Given the description of an element on the screen output the (x, y) to click on. 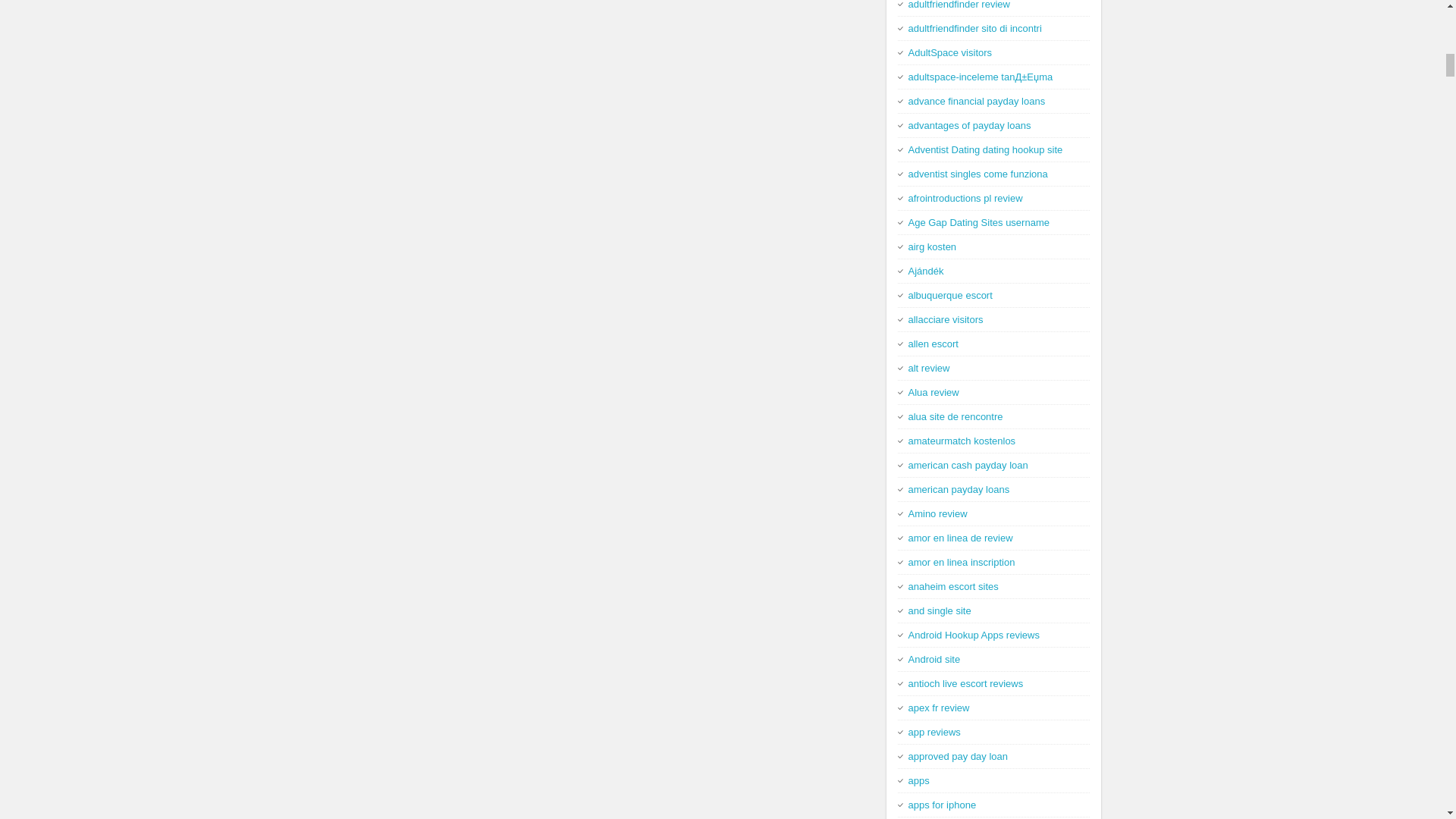
adultfriendfinder review (959, 4)
AdultSpace visitors (950, 52)
adultfriendfinder sito di incontri (975, 28)
